Given the description of an element on the screen output the (x, y) to click on. 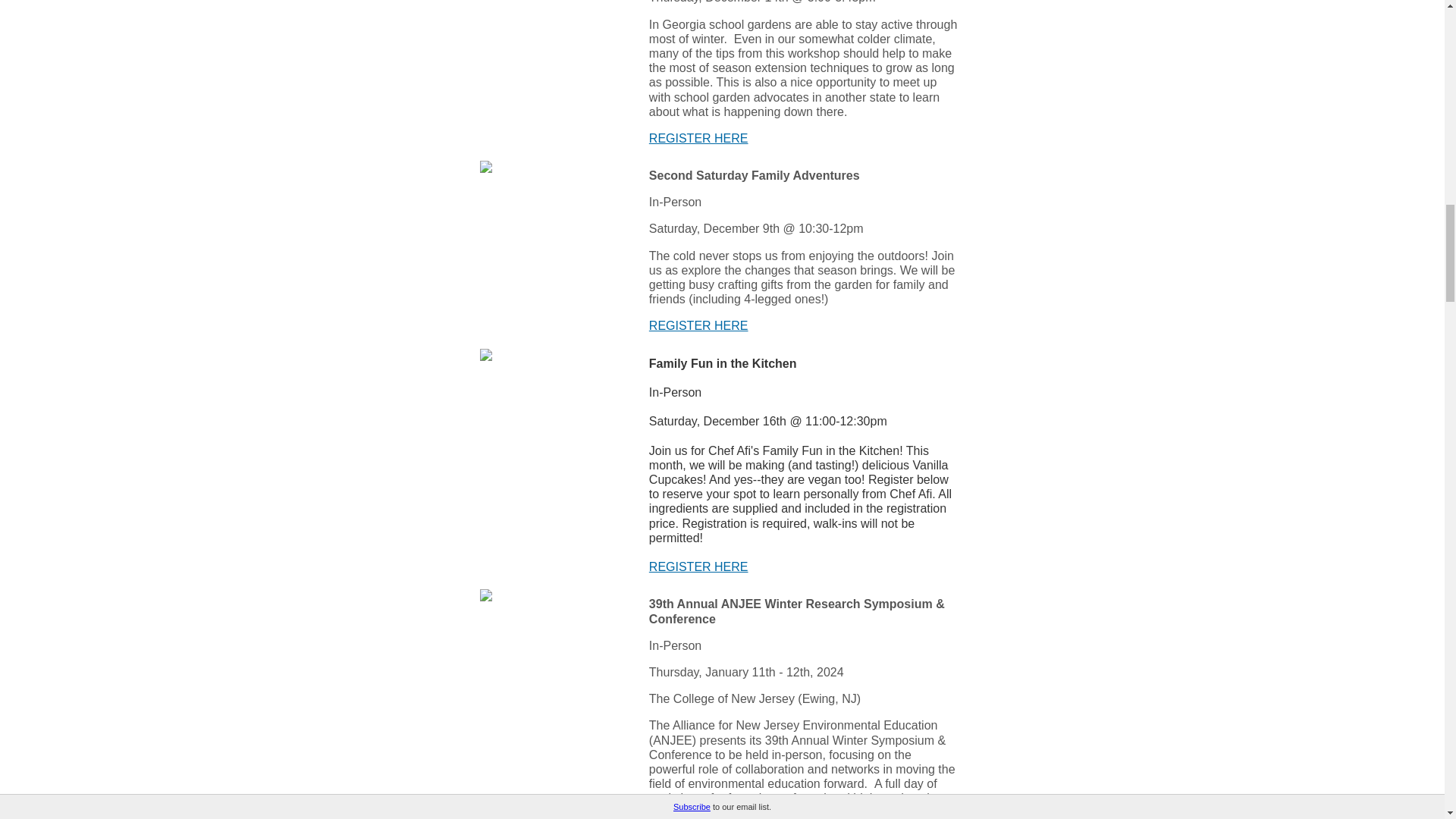
REGISTER HERE (698, 325)
REGISTER HERE (698, 566)
REGISTER HERE (698, 137)
